Given the description of an element on the screen output the (x, y) to click on. 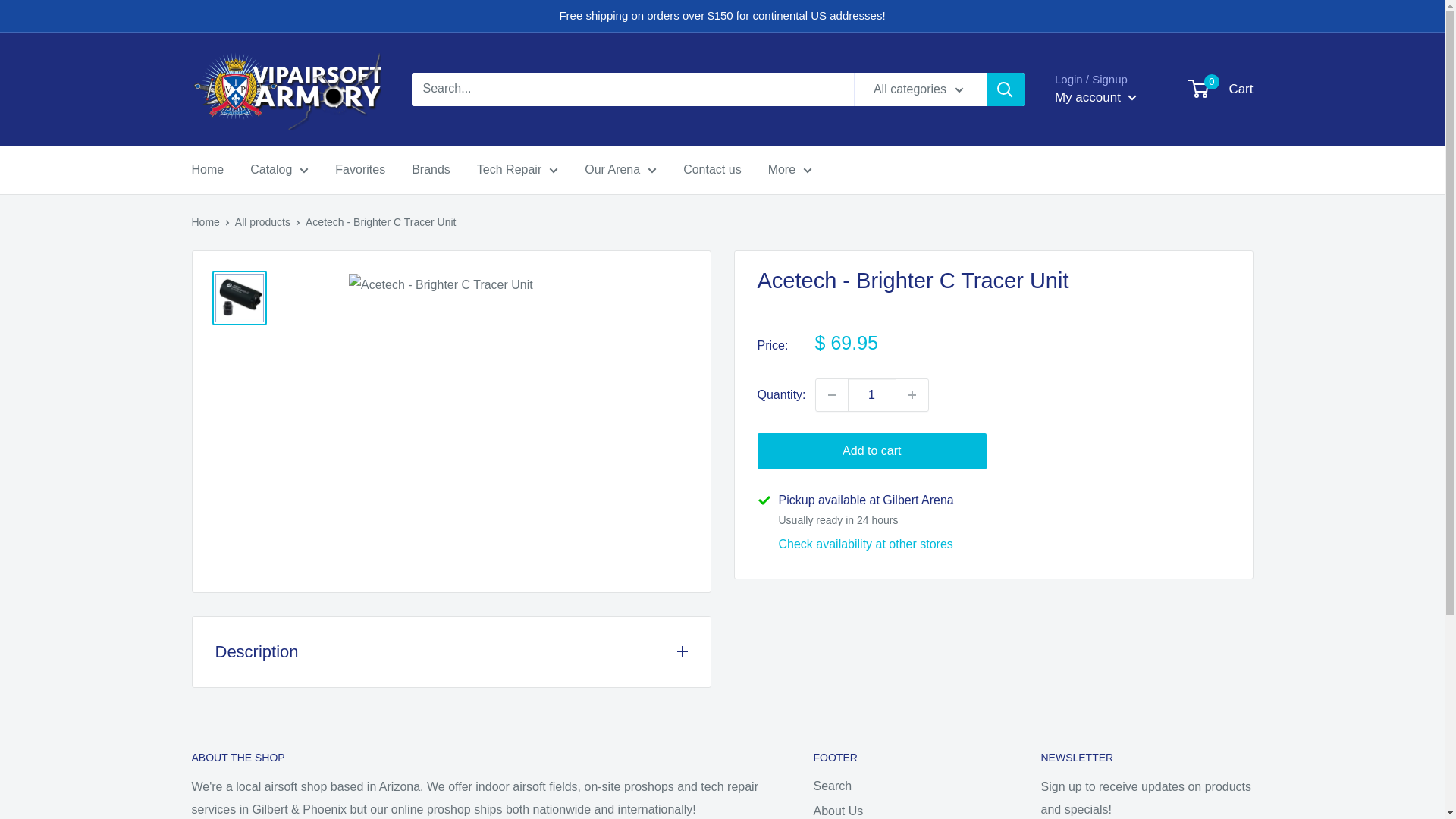
Decrease quantity by 1 (831, 395)
1 (871, 395)
Increase quantity by 1 (912, 395)
